Given the description of an element on the screen output the (x, y) to click on. 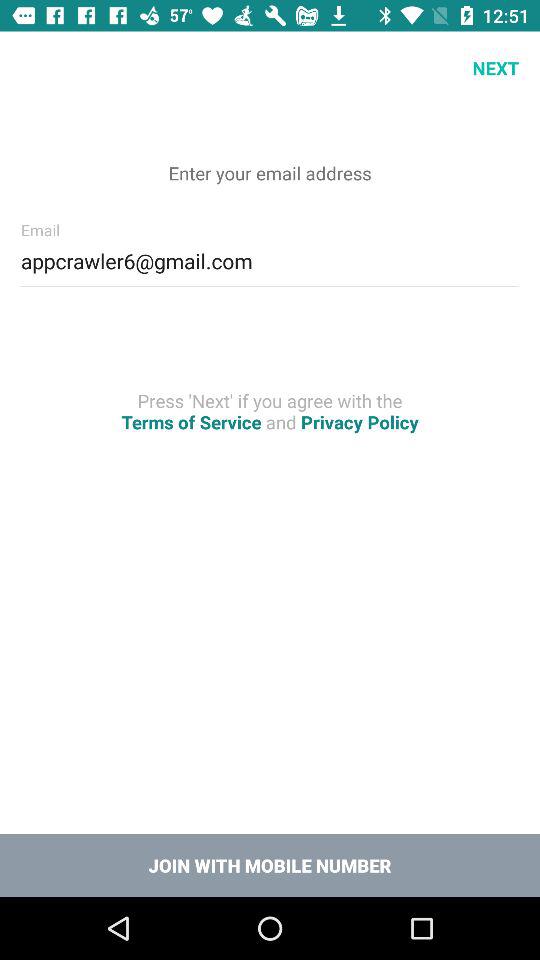
tap the press next if icon (270, 411)
